Given the description of an element on the screen output the (x, y) to click on. 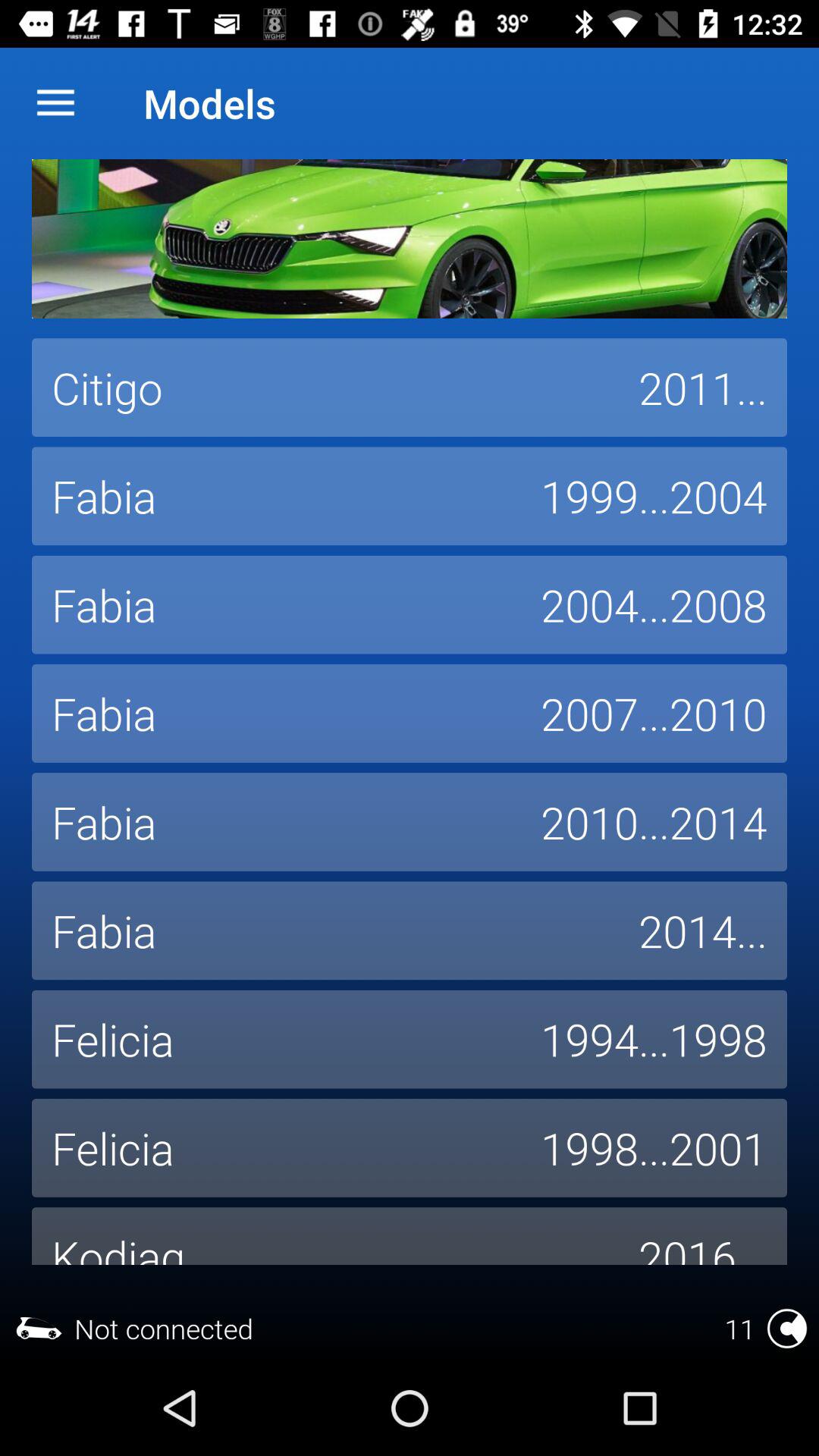
turn off icon above the 1999...2004 (702, 387)
